Given the description of an element on the screen output the (x, y) to click on. 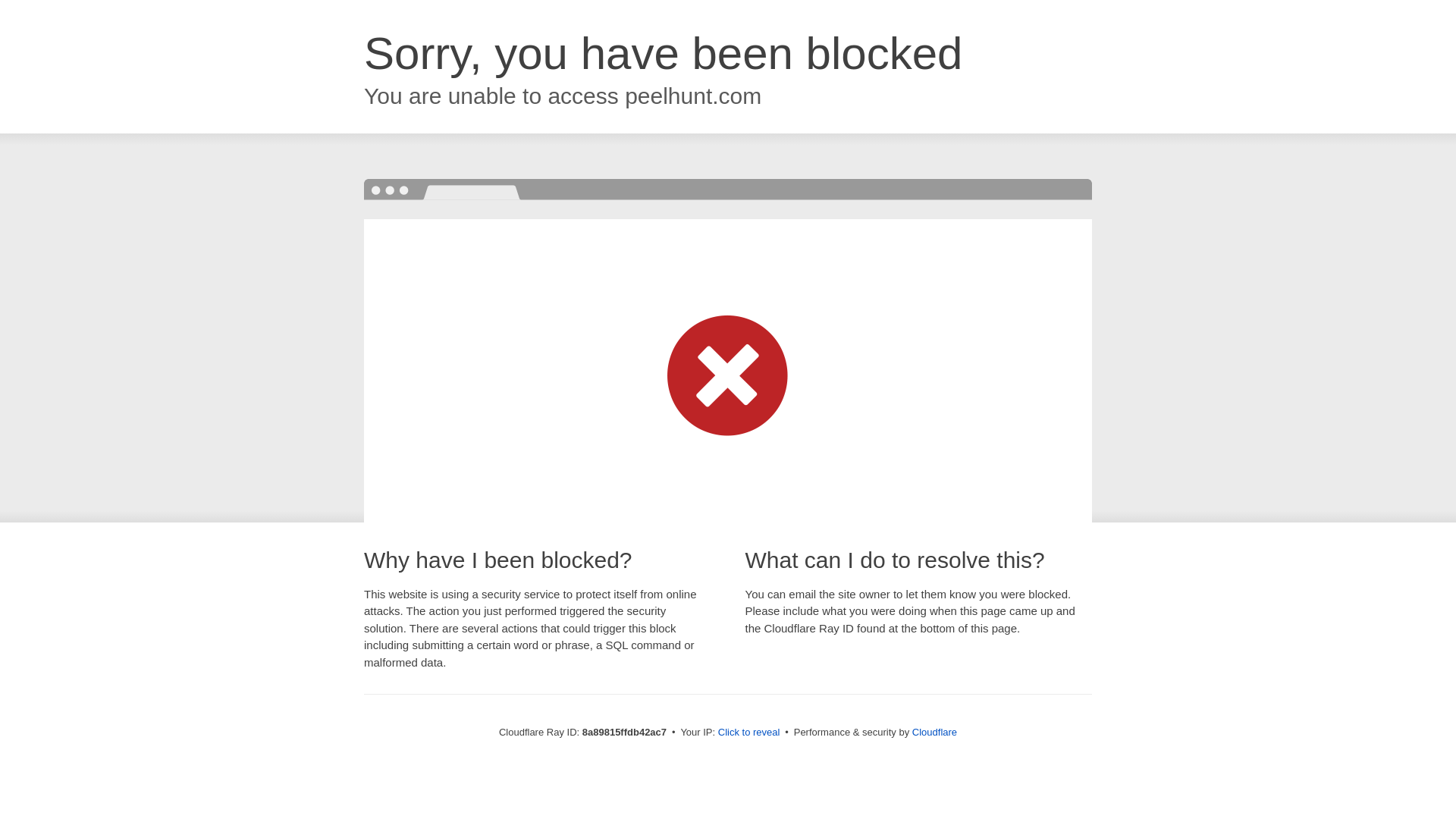
Cloudflare (934, 731)
Click to reveal (748, 732)
